Given the description of an element on the screen output the (x, y) to click on. 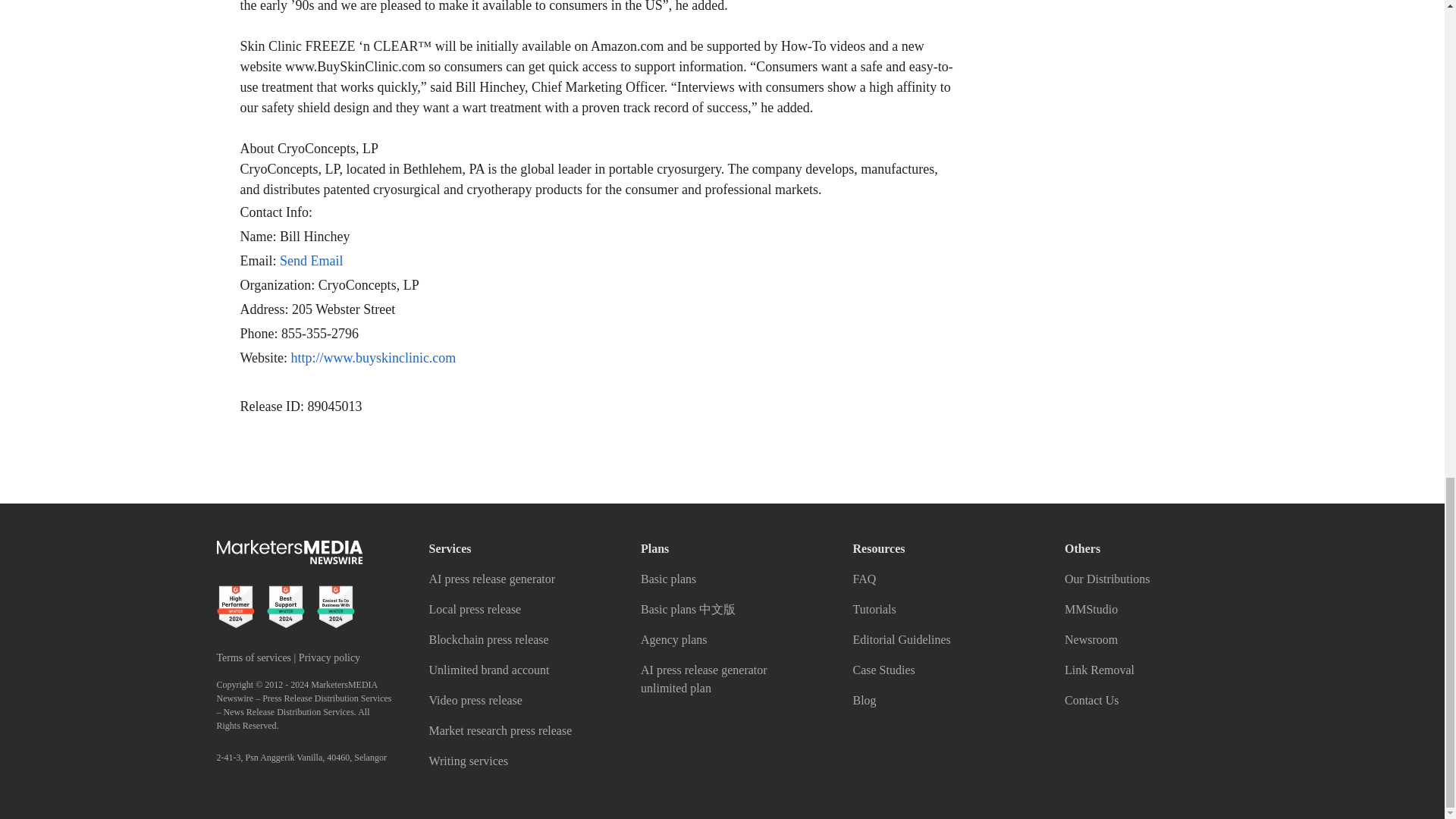
Video press release (475, 699)
Send Email (311, 260)
Terms of services (254, 657)
Blockchain press release (488, 639)
Unlimited brand account (489, 669)
AI press release generator (492, 578)
Market research press release (500, 730)
Writing services (468, 760)
Local press release (475, 608)
Privacy policy (328, 657)
